Given the description of an element on the screen output the (x, y) to click on. 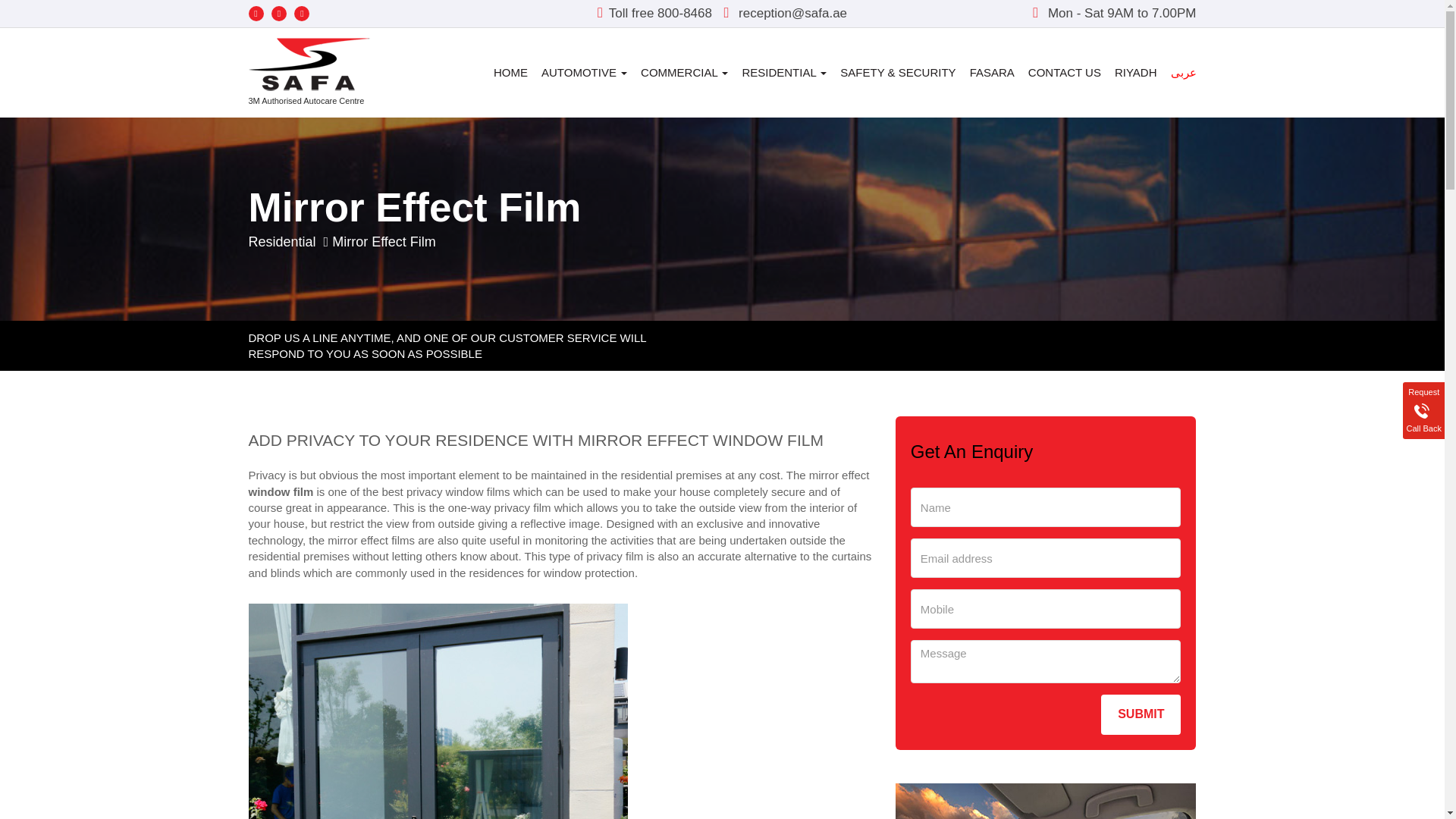
COMMERCIAL (684, 72)
Submit (1140, 714)
FASARA (991, 72)
Linkedin Url (255, 13)
RESIDENTIAL (784, 72)
HOME (510, 72)
AUTOMOTIVE (584, 72)
